Given the description of an element on the screen output the (x, y) to click on. 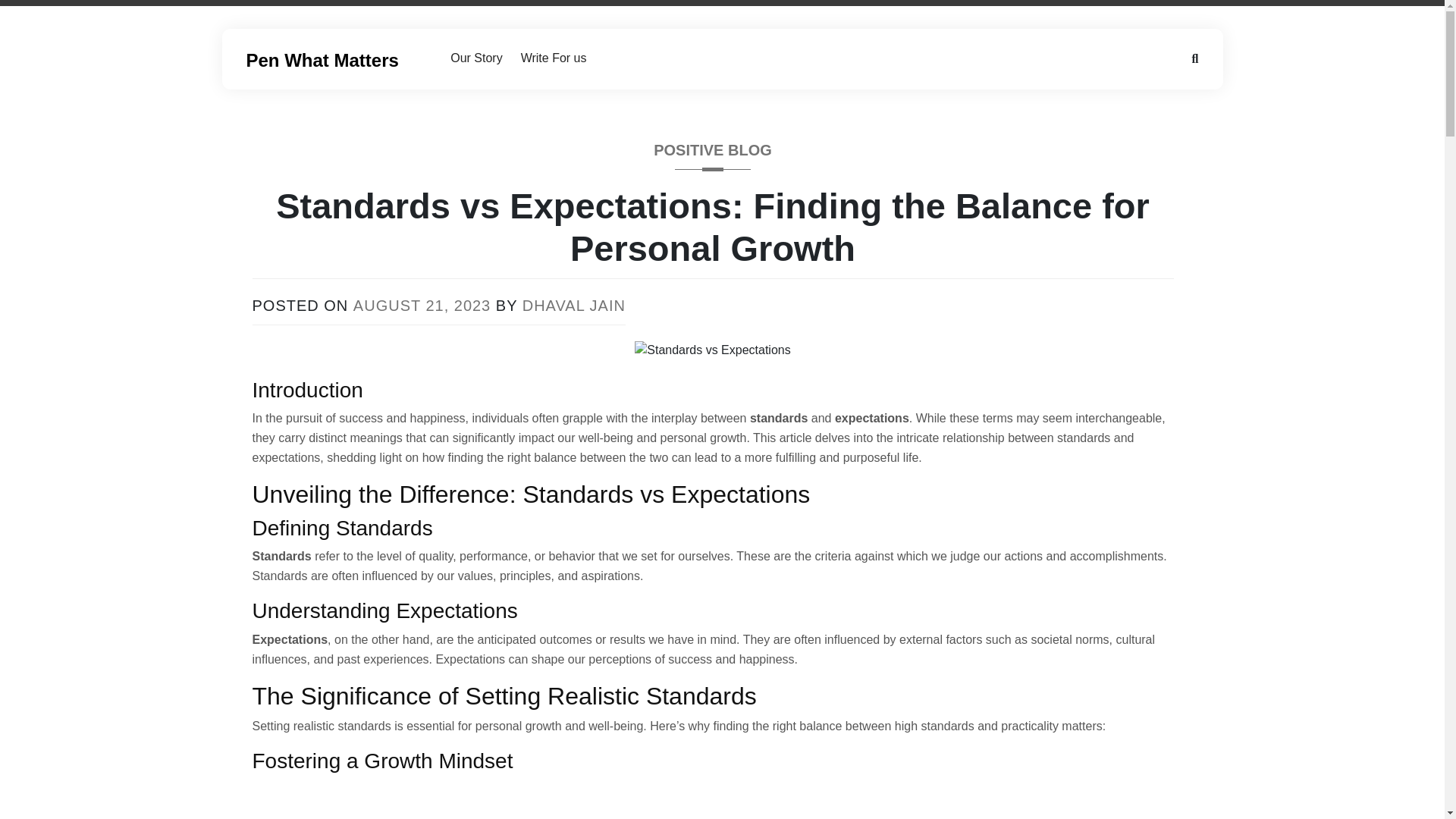
Advertisement (712, 799)
Write For us (553, 58)
DHAVAL JAIN (574, 305)
AUGUST 21, 2023 (421, 305)
Search (30, 12)
Pen What Matters (321, 59)
POSITIVE BLOG (712, 155)
Our Story (476, 58)
